Given the description of an element on the screen output the (x, y) to click on. 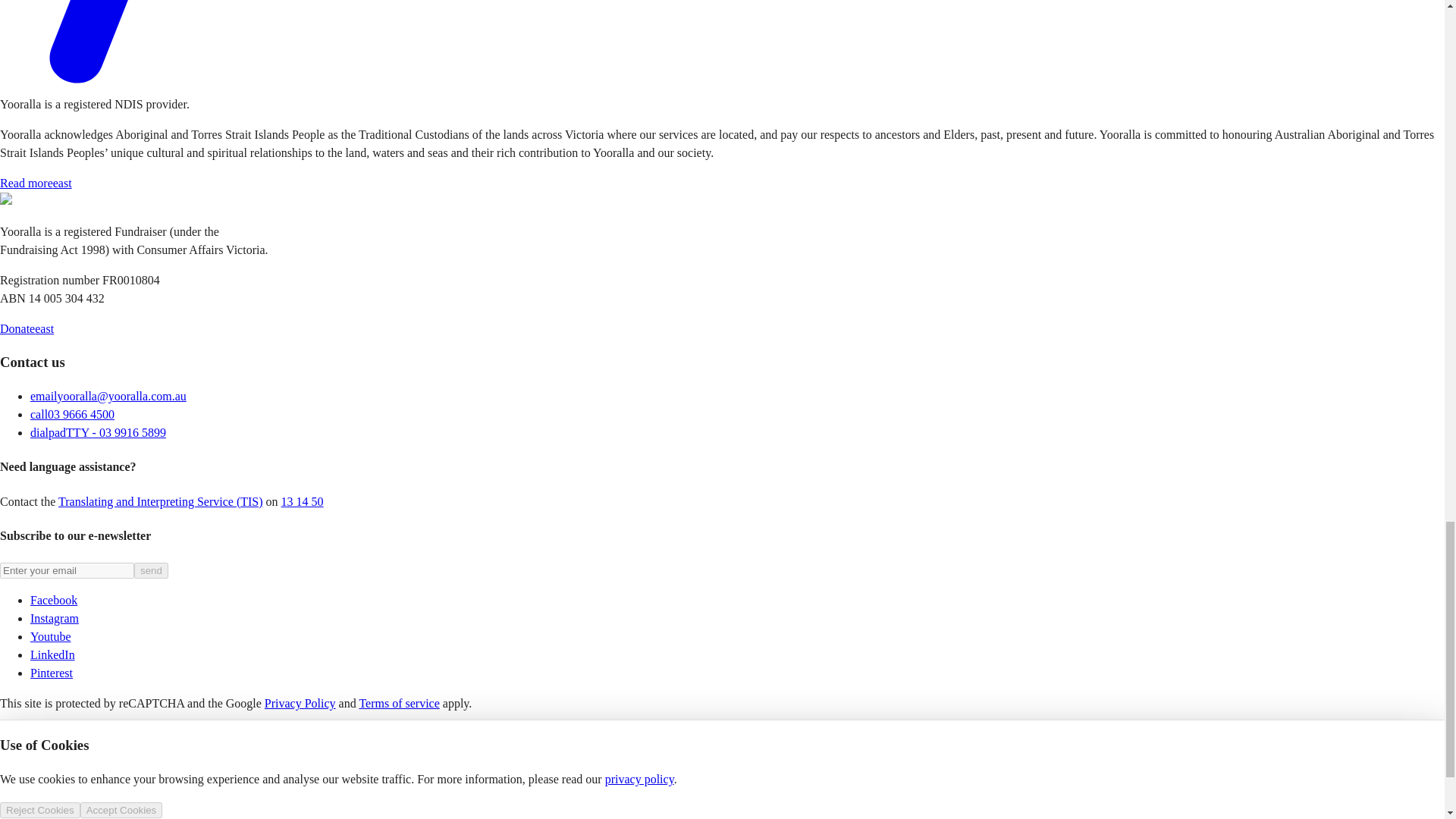
call03 9666 4500 (72, 413)
Instagram (54, 617)
Youtube (50, 635)
Donateeast (26, 328)
send (150, 570)
Read moreeast (35, 182)
13 14 50 (302, 501)
Pinterest (51, 672)
LinkedIn (52, 654)
dialpadTTY - 03 9916 5899 (97, 431)
